Given the description of an element on the screen output the (x, y) to click on. 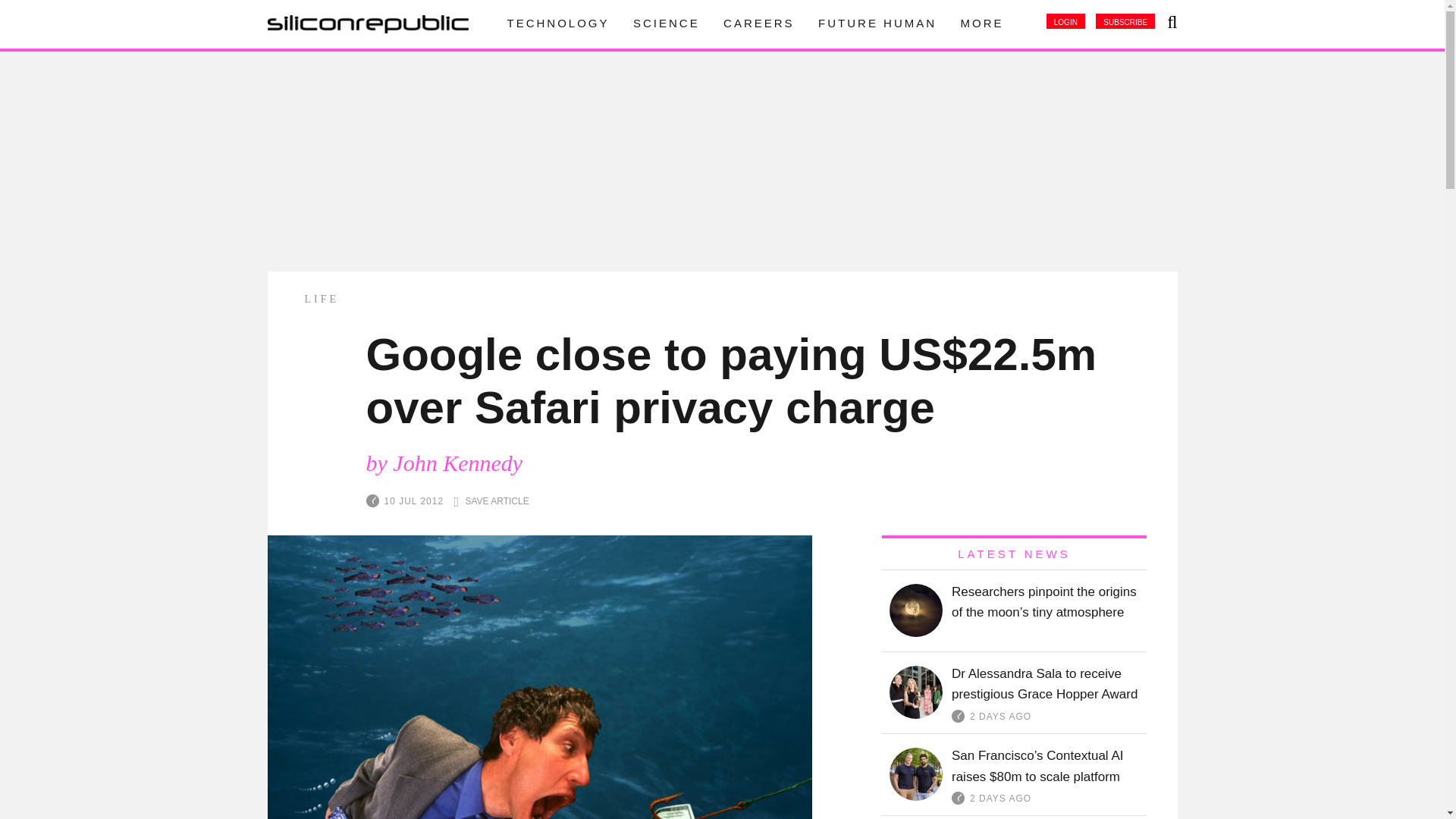
TECHNOLOGY (557, 22)
SCIENCE (666, 22)
